Given the description of an element on the screen output the (x, y) to click on. 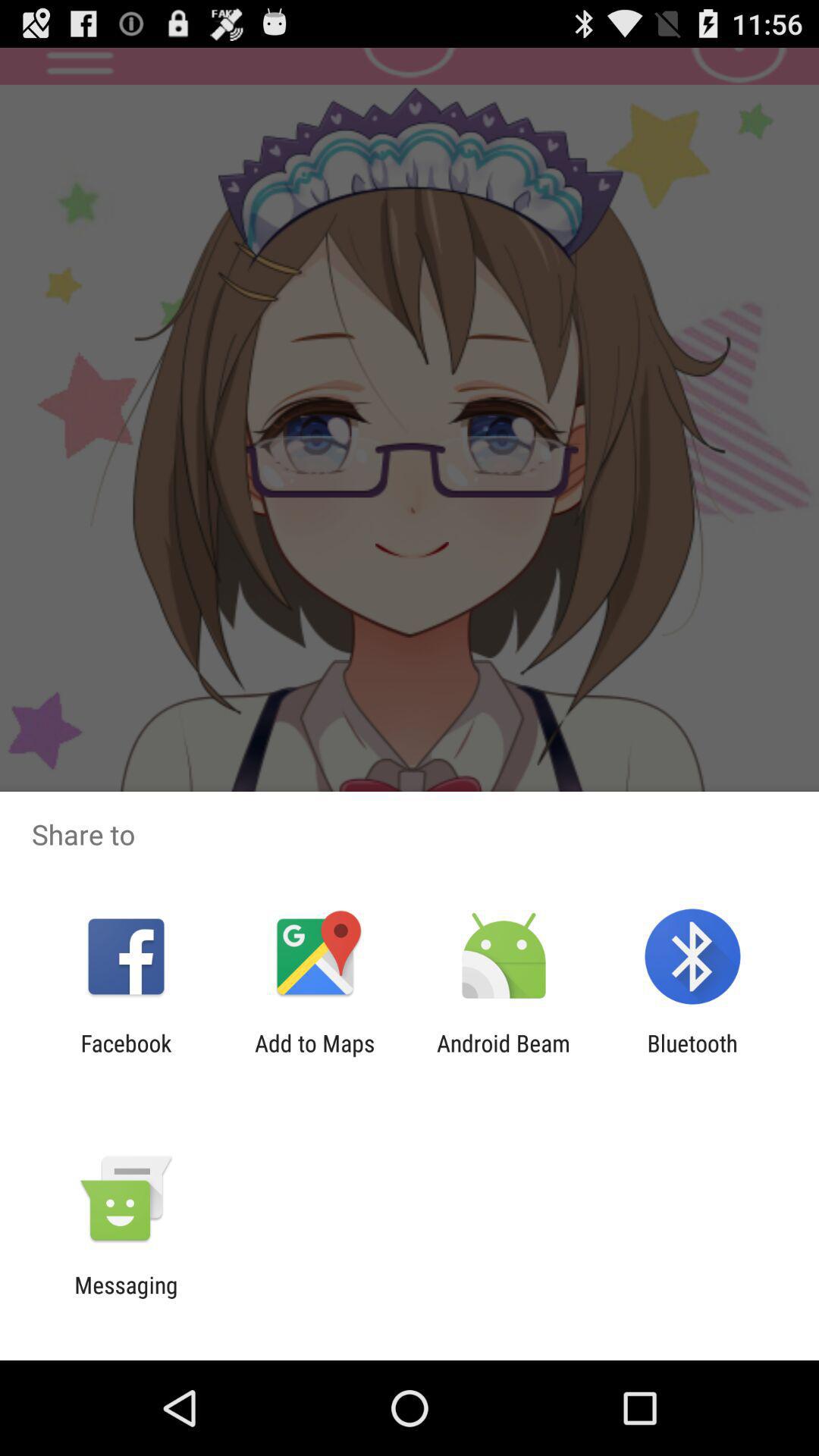
click the add to maps icon (314, 1056)
